Given the description of an element on the screen output the (x, y) to click on. 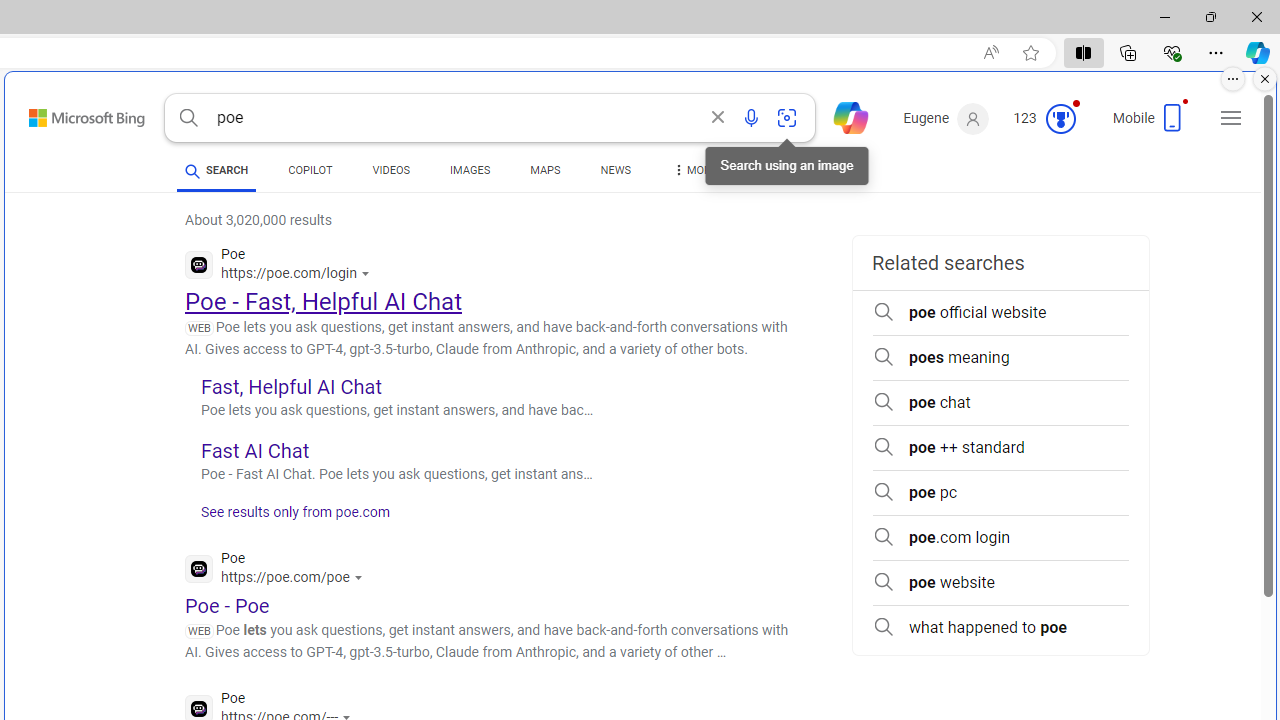
Fast, Helpful AI Chat (290, 385)
Dropdown Menu (693, 170)
COPILOT (310, 170)
NEWS (614, 170)
IMAGES (470, 170)
Back to Bing search (74, 113)
Poe (278, 569)
poe pc (1000, 492)
what happened to poe (1000, 628)
poe official website (1000, 312)
